Given the description of an element on the screen output the (x, y) to click on. 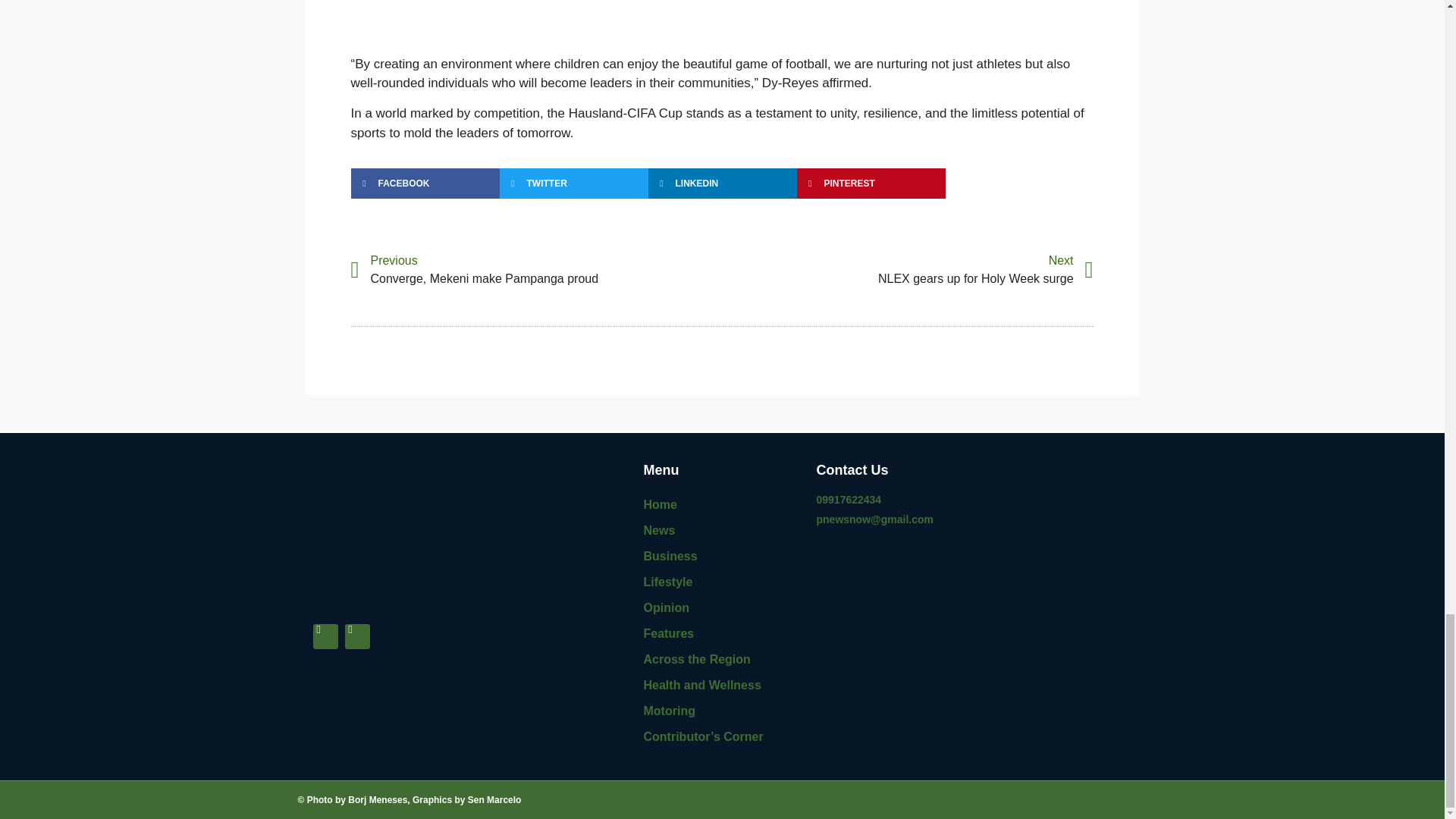
Lifestyle (721, 582)
Business (721, 556)
Home (907, 269)
Opinion (721, 504)
Features (721, 607)
News (721, 633)
Across the Region (721, 530)
Motoring (721, 659)
Health and Wellness (721, 710)
